Given the description of an element on the screen output the (x, y) to click on. 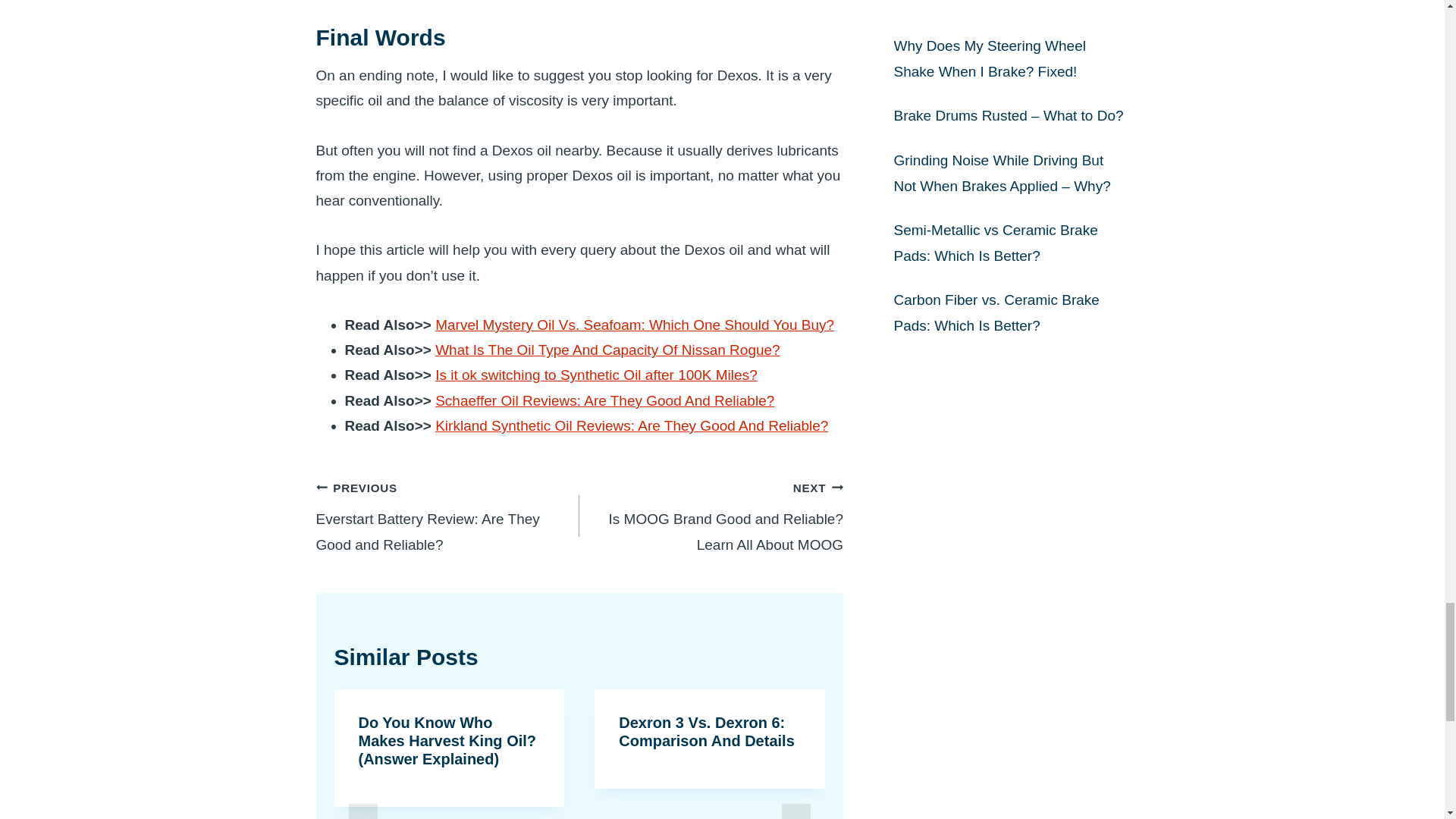
Marvel Mystery Oil Vs. Seafoam: Which One Should You Buy? (634, 324)
Dexron 3 Vs. Dexron 6: Comparison And Details (706, 731)
Is it ok switching to Synthetic Oil after 100K Miles? (711, 516)
Kirkland Synthetic Oil Reviews: Are They Good And Reliable? (596, 374)
What Is The Oil Type And Capacity Of Nissan Rogue? (631, 425)
Schaeffer Oil Reviews: Are They Good And Reliable? (606, 349)
